Given the description of an element on the screen output the (x, y) to click on. 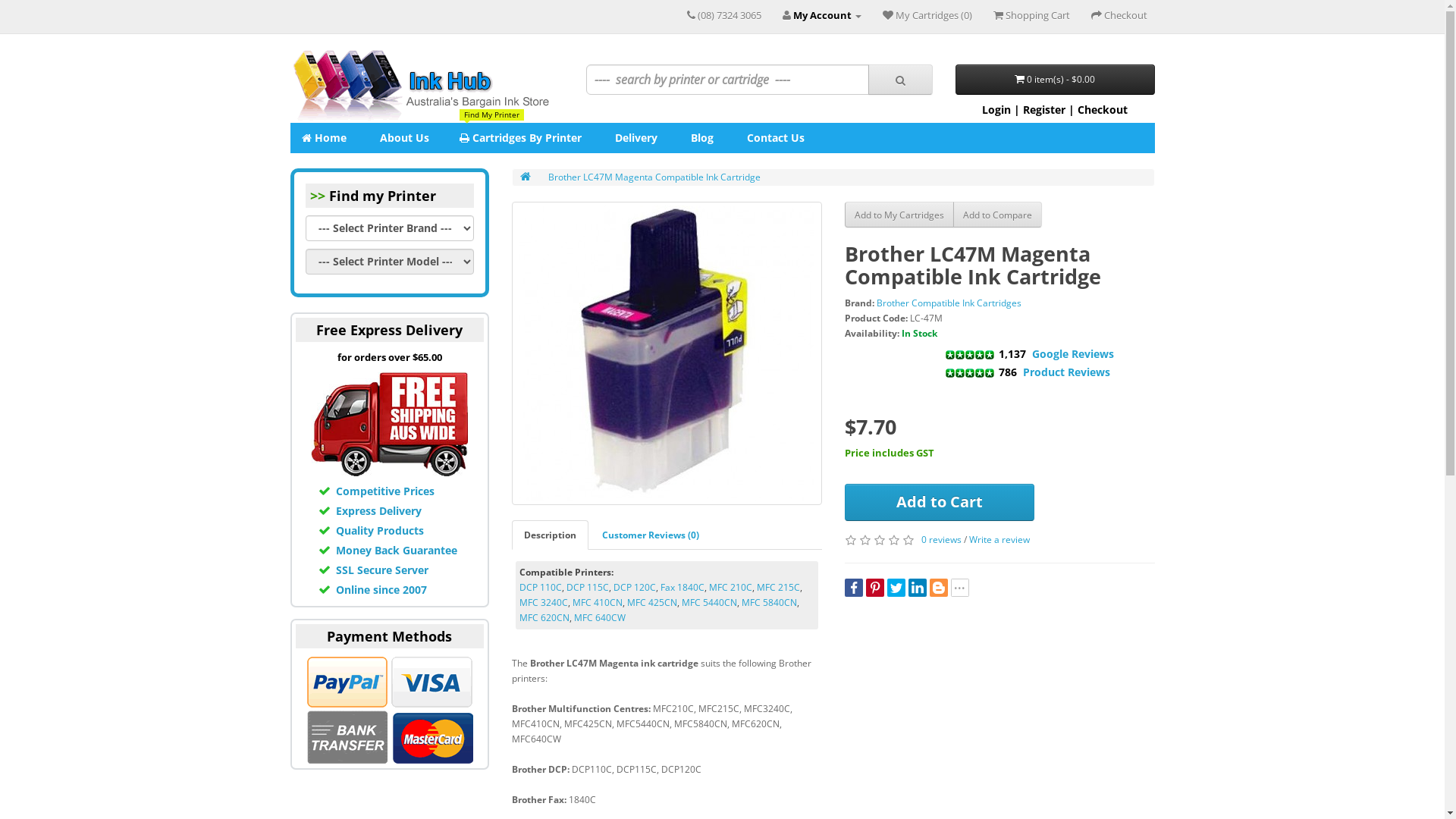
Customer Reviews (0) Element type: text (650, 534)
MFC 5840CN Element type: text (769, 602)
DCP 120C Element type: text (634, 586)
DCP 110C Element type: text (540, 586)
Add to My Cartridges Element type: text (898, 214)
Fax 1840C Element type: text (682, 586)
Checkout Element type: text (1102, 109)
My Cartridges (0) Element type: text (927, 14)
Twitter Element type: hover (896, 587)
Home Element type: text (323, 137)
MFC 5440CN Element type: text (709, 602)
MFC 425CN Element type: text (652, 602)
Login Element type: text (996, 109)
MFC 3240C Element type: text (543, 602)
Write a review Element type: text (999, 539)
Facebook Element type: hover (853, 587)
MFC 210C Element type: text (730, 586)
MFC 215C Element type: text (778, 586)
LinkedIn Element type: hover (917, 587)
About Us Element type: text (403, 137)
Add to Cart Element type: text (939, 501)
Register Element type: text (1043, 109)
Description Element type: text (549, 534)
Ink Hub Element type: hover (419, 85)
Pinterest Element type: hover (875, 587)
MFC 640CW Element type: text (599, 617)
Find My Printer
Cartridges By Printer Element type: text (519, 137)
Product Reviews Element type: text (1066, 371)
Contact Us Element type: text (774, 137)
Shopping Cart Element type: text (1031, 14)
Blogger Element type: hover (938, 587)
Brother LC47M Magenta Compatible Ink Cartridge Element type: hover (666, 353)
Google Reviews Element type: text (1072, 353)
Brother LC47M Magenta Compatible Ink Cartridge Element type: text (654, 176)
0 reviews Element type: text (941, 539)
Add to Compare Element type: text (997, 214)
Checkout Element type: text (1118, 14)
DCP 115C Element type: text (587, 586)
0 item(s) - $0.00 Element type: text (1054, 79)
MFC 410CN Element type: text (597, 602)
Brother Compatible Ink Cartridges Element type: text (948, 302)
My Account Element type: text (821, 14)
Delivery Element type: text (634, 137)
MFC 620CN Element type: text (544, 617)
Blog Element type: text (700, 137)
Brother LC47M Magenta Compatible Ink Cartridge Element type: hover (666, 353)
